Given the description of an element on the screen output the (x, y) to click on. 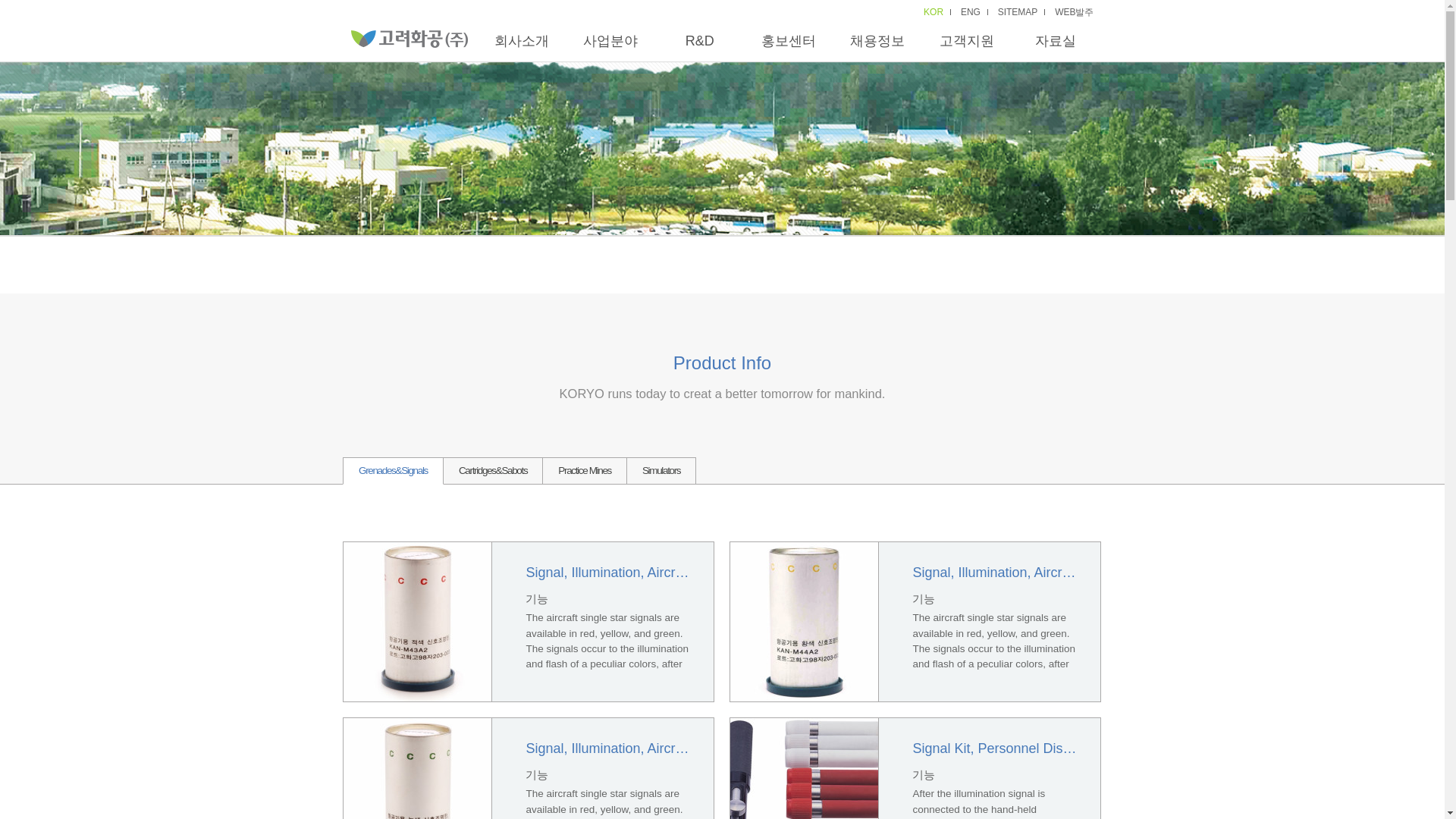
KOR (932, 11)
SITEMAP (1017, 11)
ENG (970, 11)
